Given the description of an element on the screen output the (x, y) to click on. 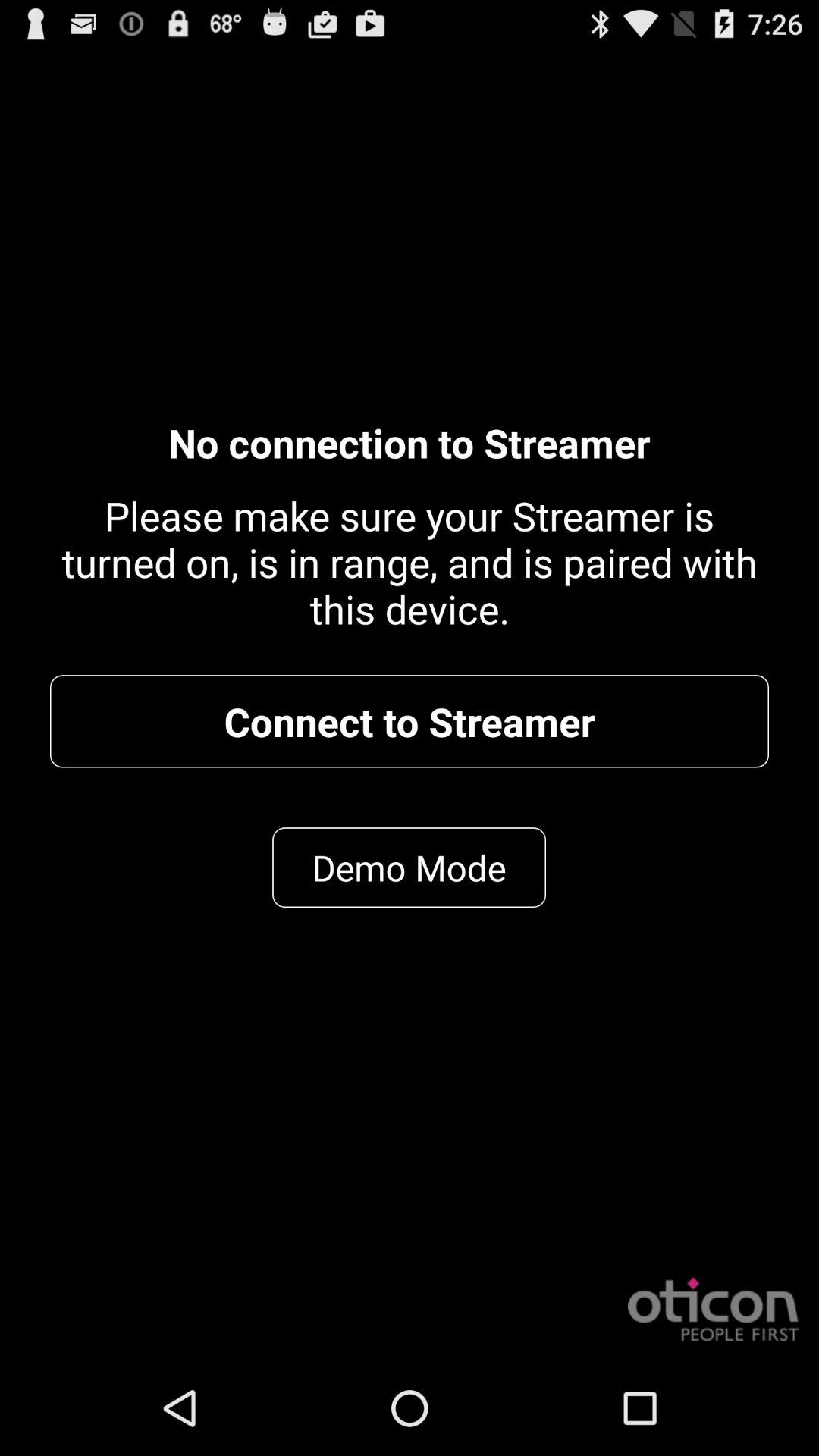
open the demo mode item (409, 867)
